Given the description of an element on the screen output the (x, y) to click on. 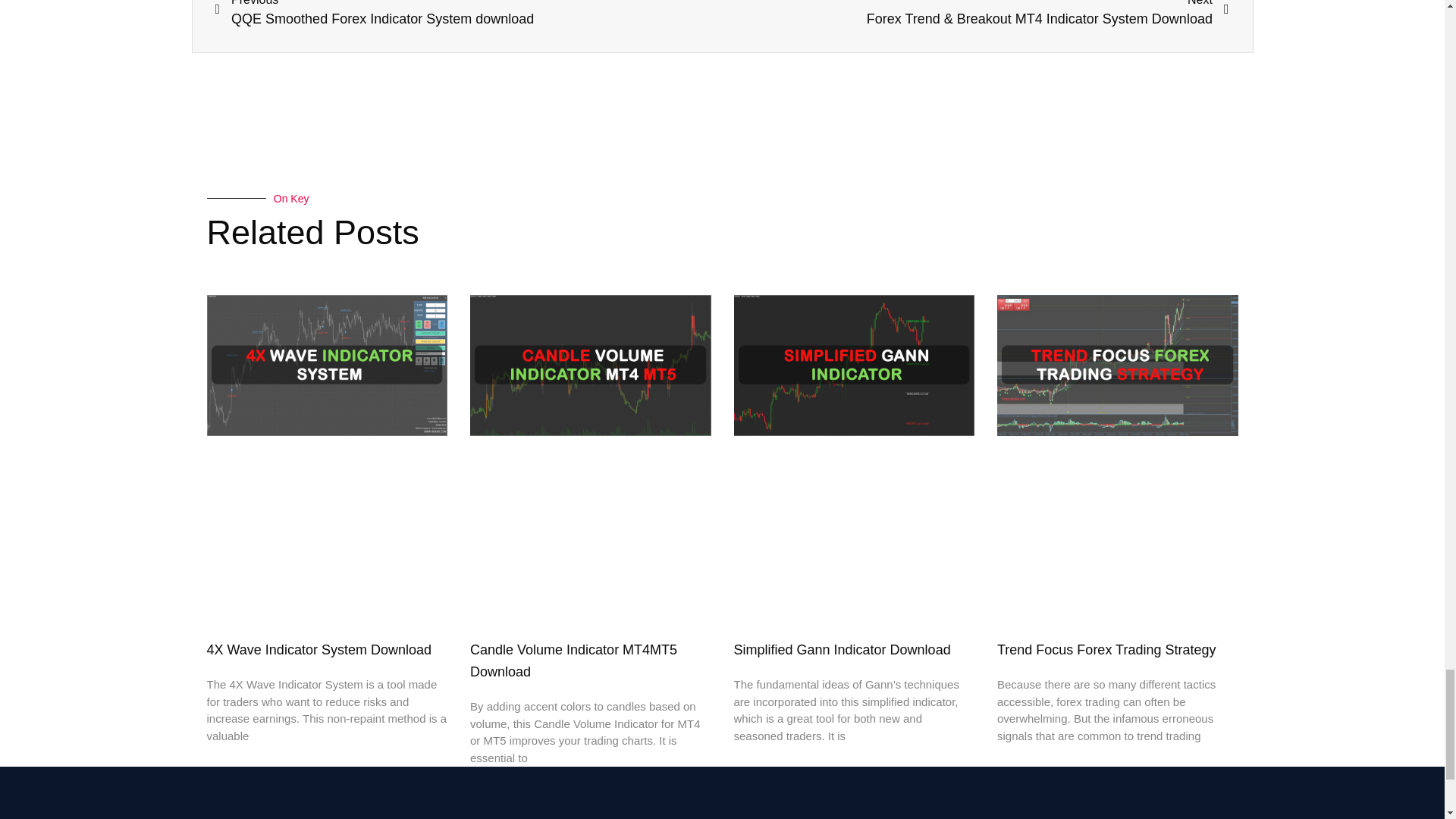
Candle Volume Indicator MT4MT5 Download (573, 660)
Simplified Gann Indicator Download (841, 649)
4X Wave Indicator System Download (468, 14)
